Given the description of an element on the screen output the (x, y) to click on. 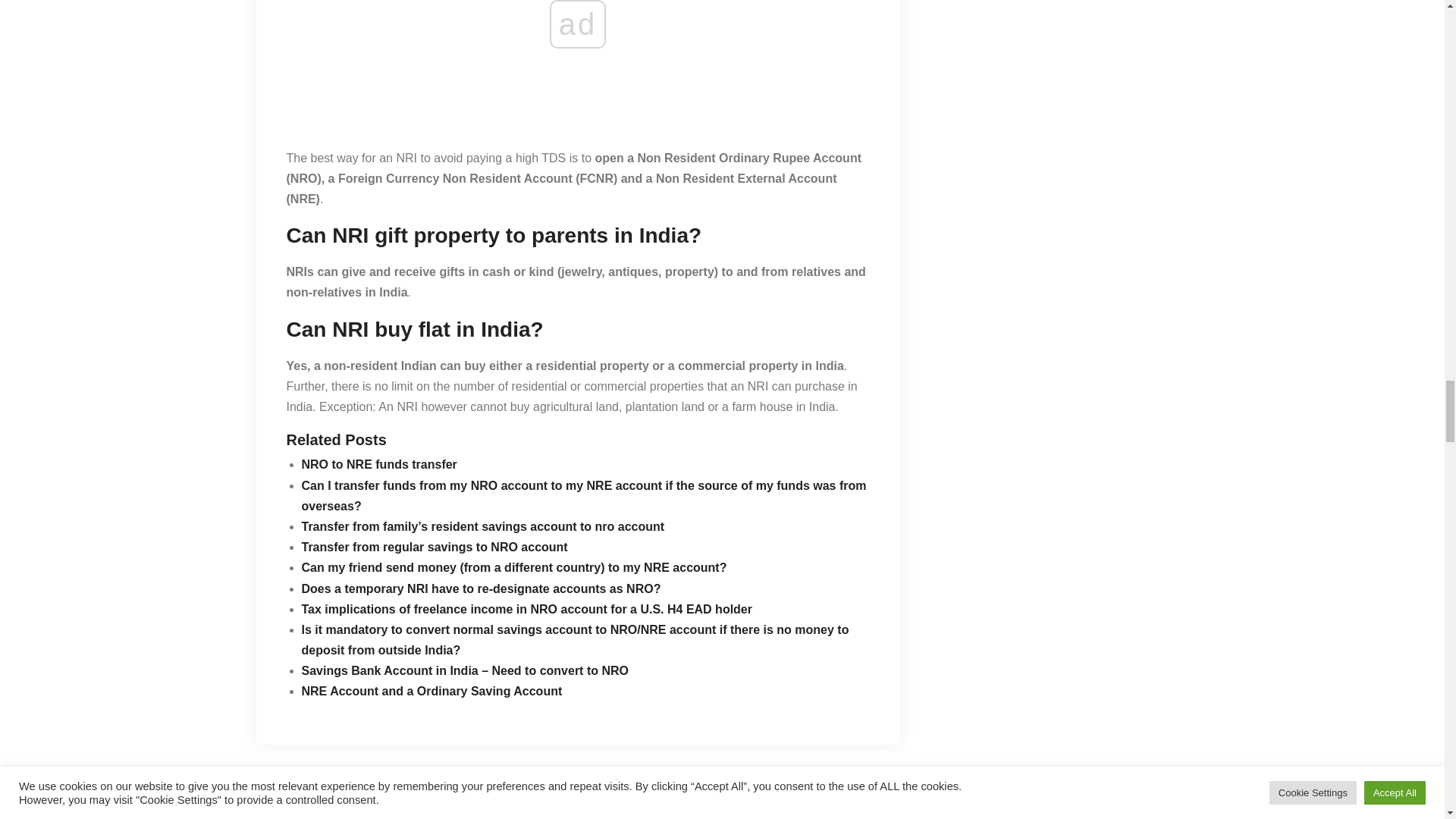
NRO to NRE funds transfer (379, 463)
Does a temporary NRI have to re-designate accounts as NRO? (481, 588)
Transfer from regular savings to NRO account (434, 546)
NRE Account and a Ordinary Saving Account (431, 690)
